Given the description of an element on the screen output the (x, y) to click on. 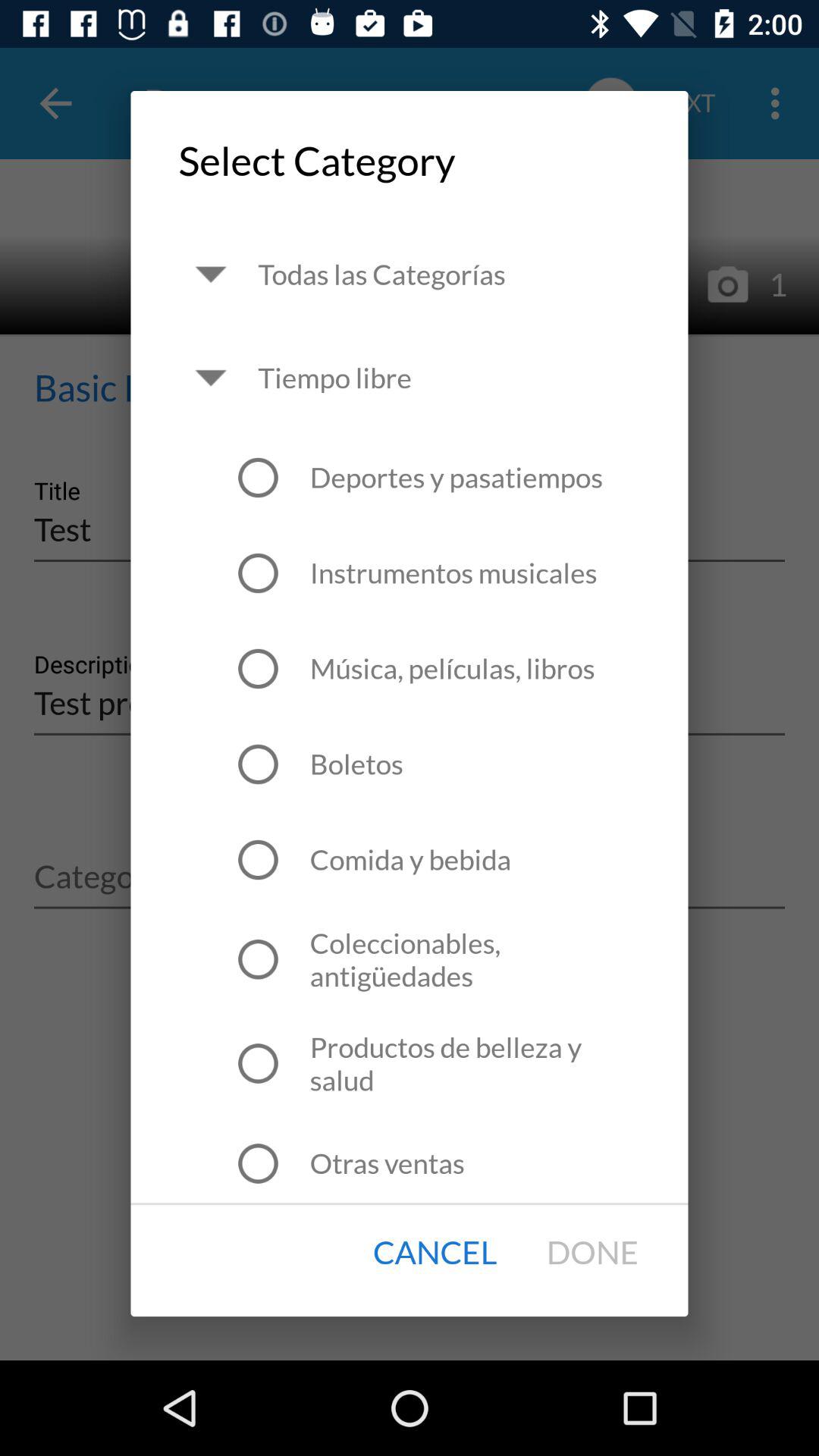
click the instrumentos musicales item (453, 572)
